Given the description of an element on the screen output the (x, y) to click on. 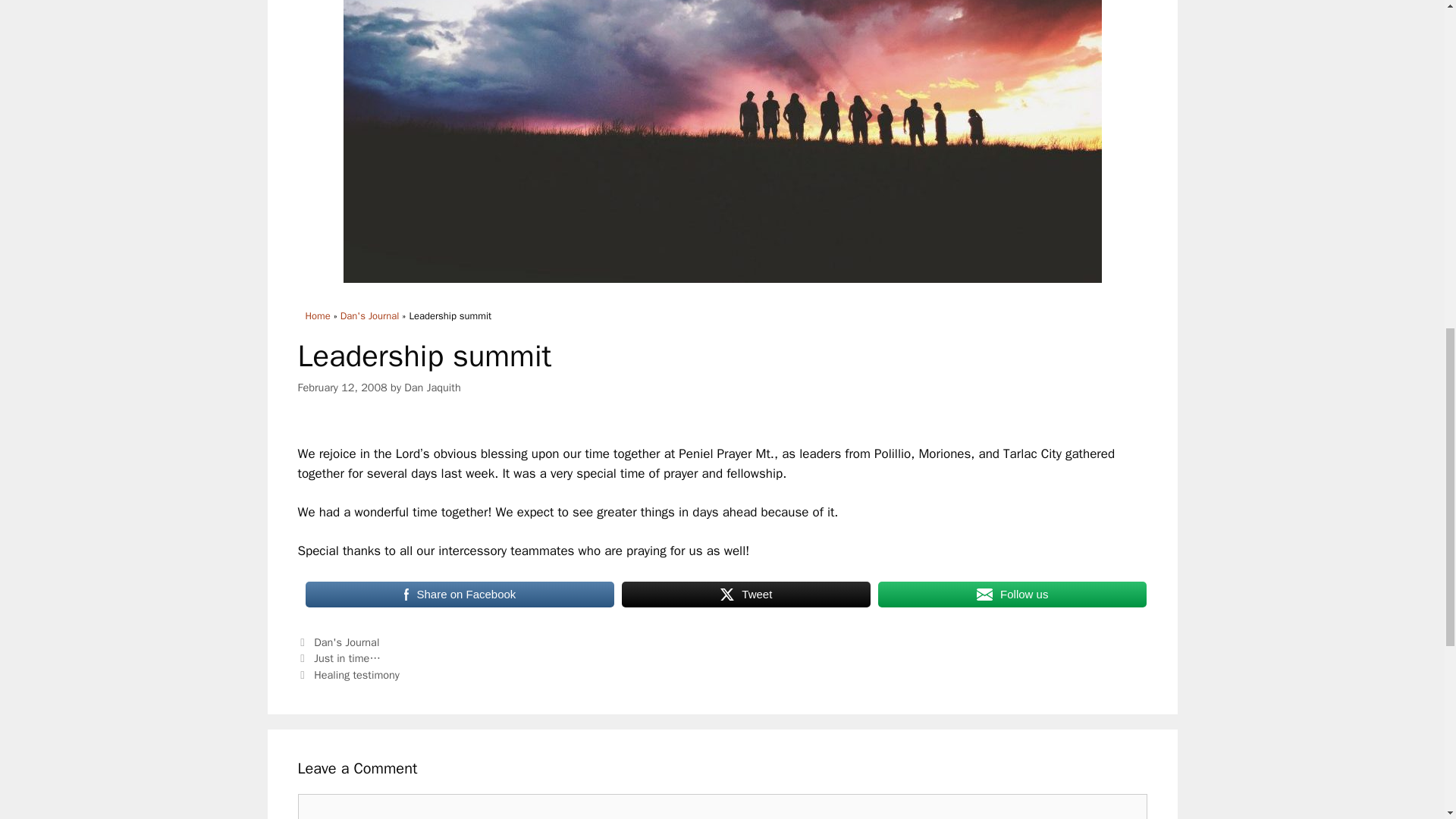
Share on Facebook (459, 594)
Dan's Journal (369, 315)
Dan Jaquith (432, 386)
February 12, 2008 (342, 386)
10:00 am (342, 386)
Healing testimony (356, 674)
View all posts by Dan Jaquith (432, 386)
Previous (338, 658)
Follow us (1012, 594)
Next (347, 674)
